Given the description of an element on the screen output the (x, y) to click on. 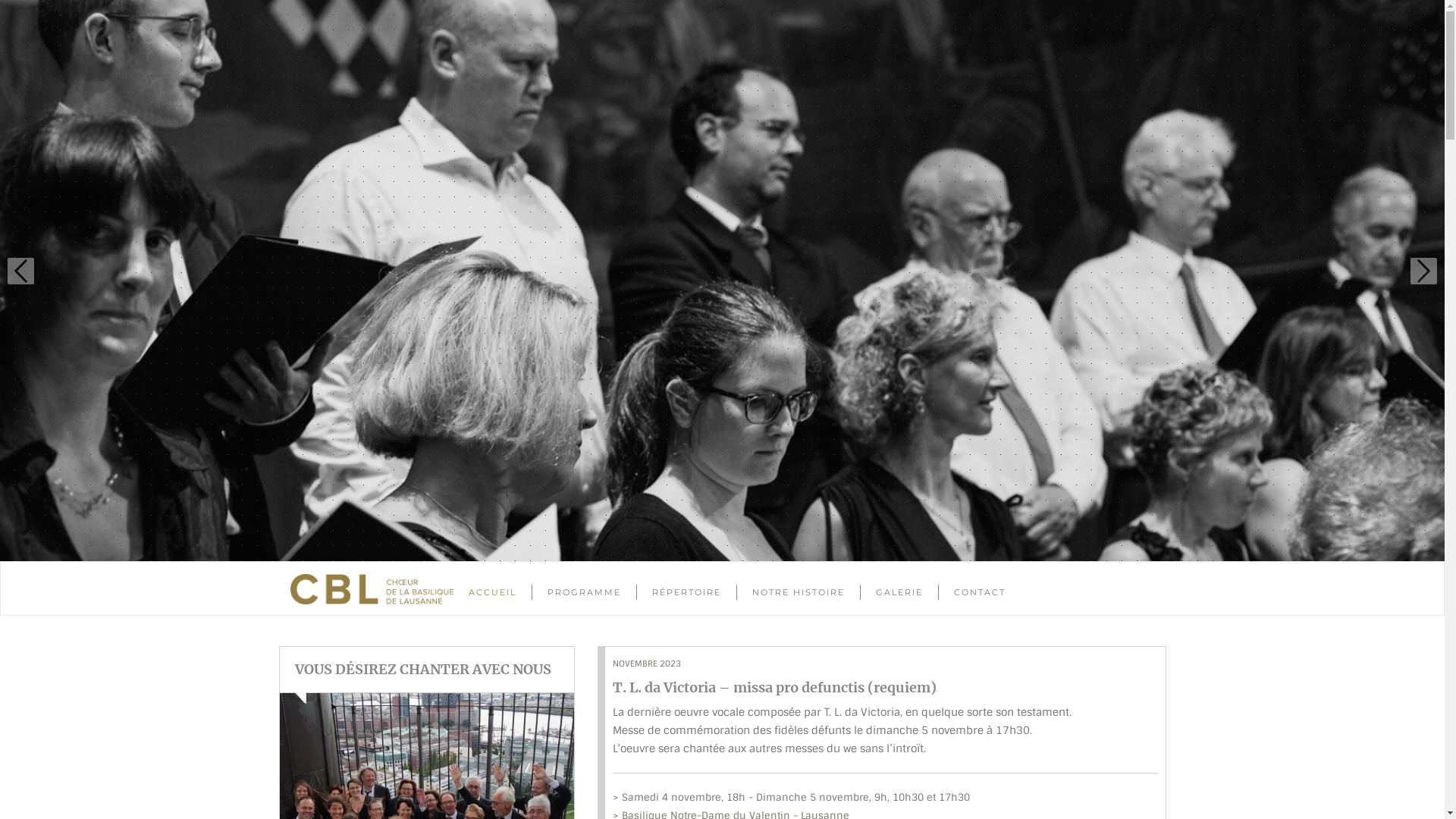
NOTRE HISTOIRE Element type: text (798, 591)
GALERIE Element type: text (898, 591)
Next Element type: text (1423, 270)
ACCUEIL Element type: text (492, 591)
CONTACT Element type: text (979, 591)
Previous Element type: text (20, 270)
PROGRAMME Element type: text (583, 591)
